Given the description of an element on the screen output the (x, y) to click on. 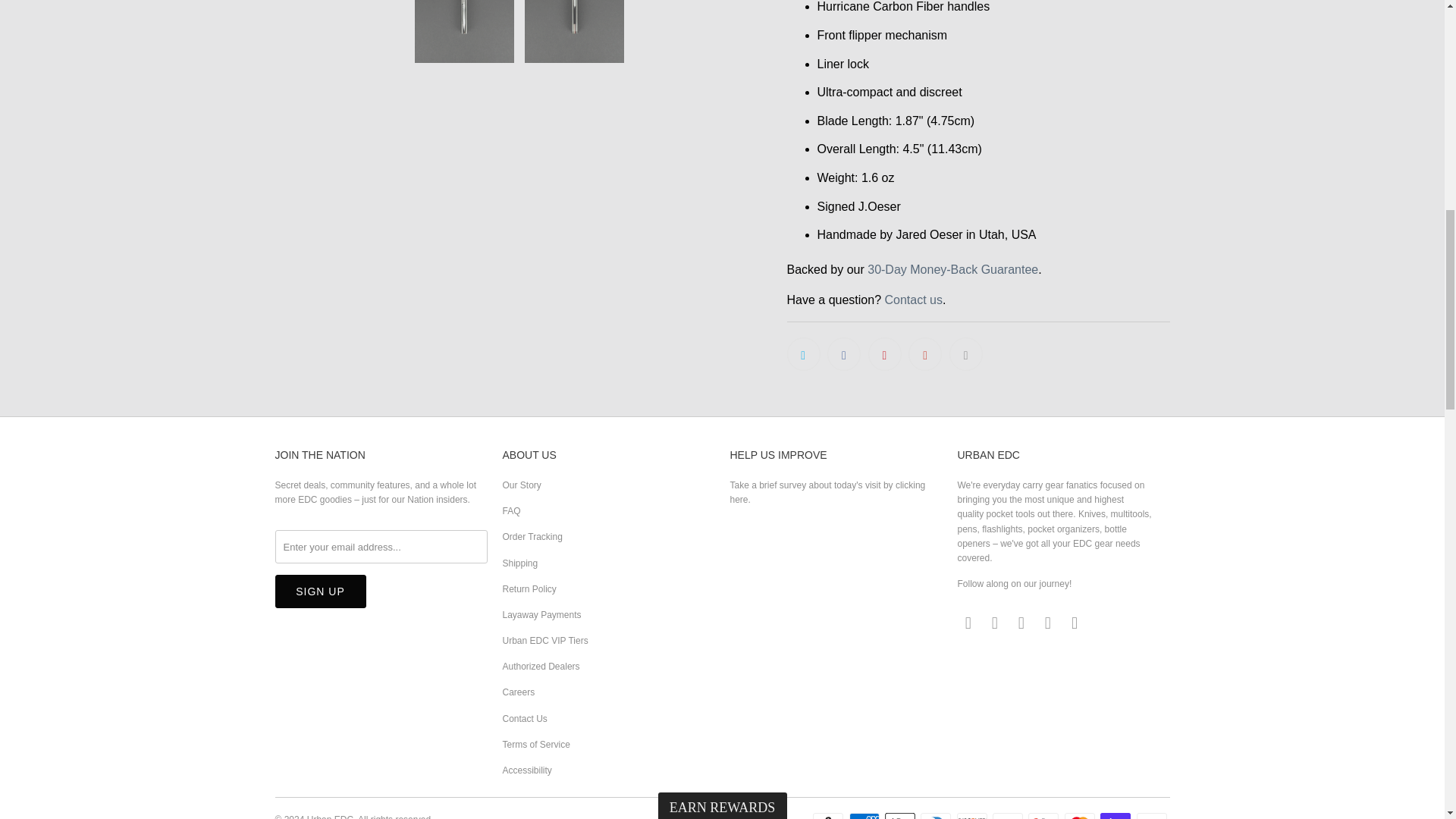
Sign Up (320, 591)
